Given the description of an element on the screen output the (x, y) to click on. 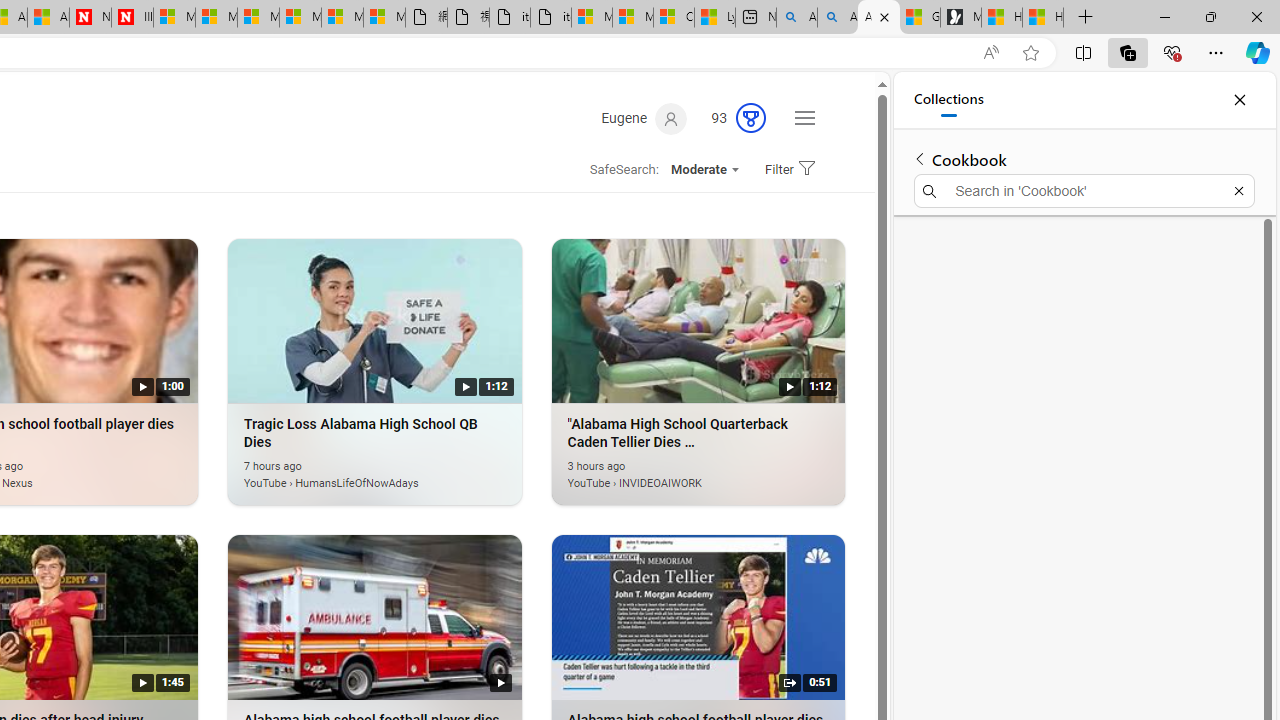
SafeSearch: (618, 169)
Eugene (644, 119)
Alabama high school quarterback dies - Search (796, 17)
Illness news & latest pictures from Newsweek.com (132, 17)
Search in 'Cookbook' (1084, 190)
itconcepthk.com/projector_solutions.mp4 (550, 17)
How to Use a TV as a Computer Monitor (1042, 17)
